Given the description of an element on the screen output the (x, y) to click on. 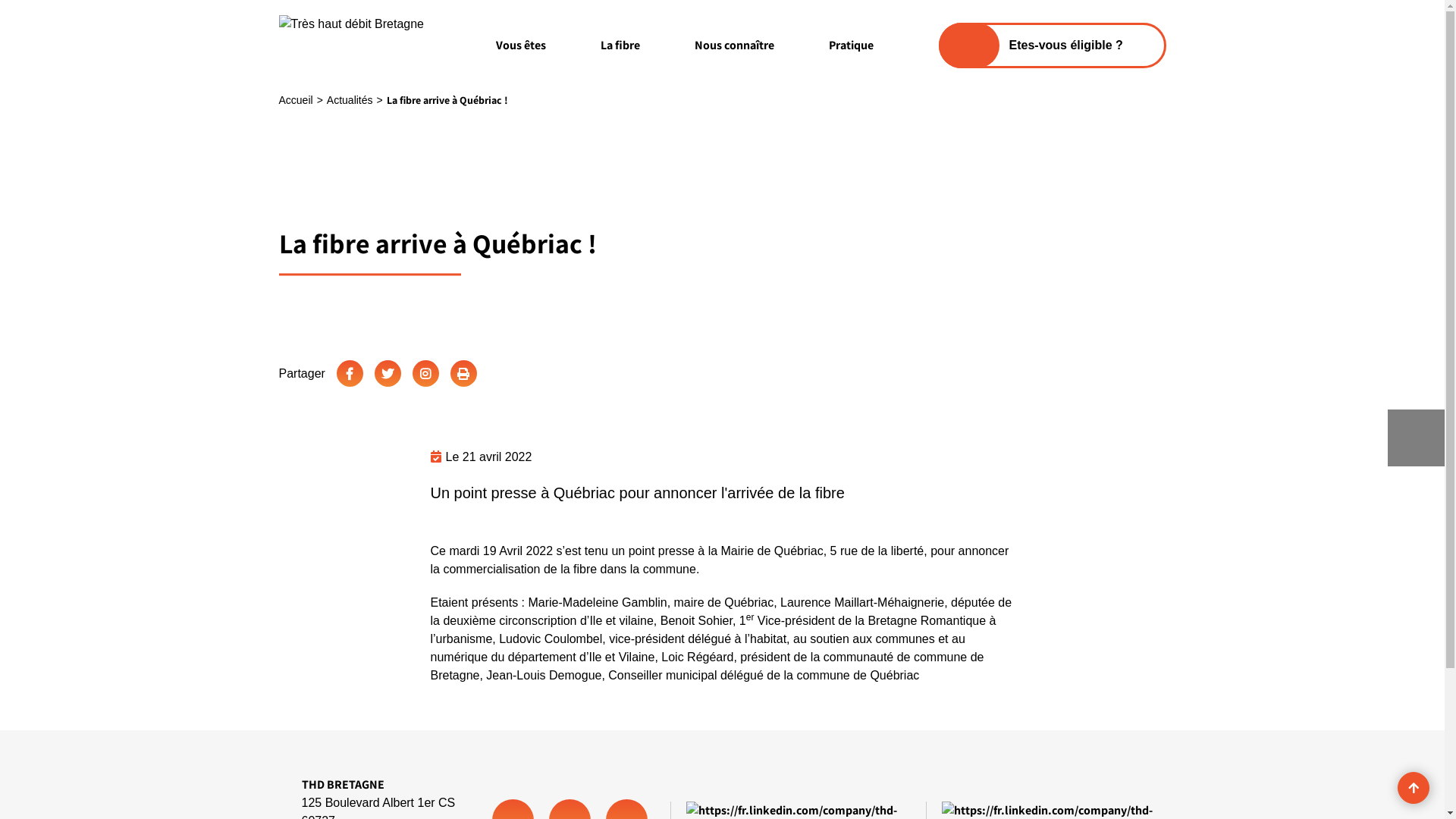
Pratique Element type: text (850, 45)
Partager sur Twitter Element type: text (425, 373)
Imprimer Element type: text (463, 373)
La fibre Element type: text (620, 45)
Partager sur Facebook Element type: text (349, 373)
Partager sur Twitter Element type: text (387, 373)
Revenir en haut de page Element type: text (1413, 787)
Accueil Element type: text (296, 100)
